Given the description of an element on the screen output the (x, y) to click on. 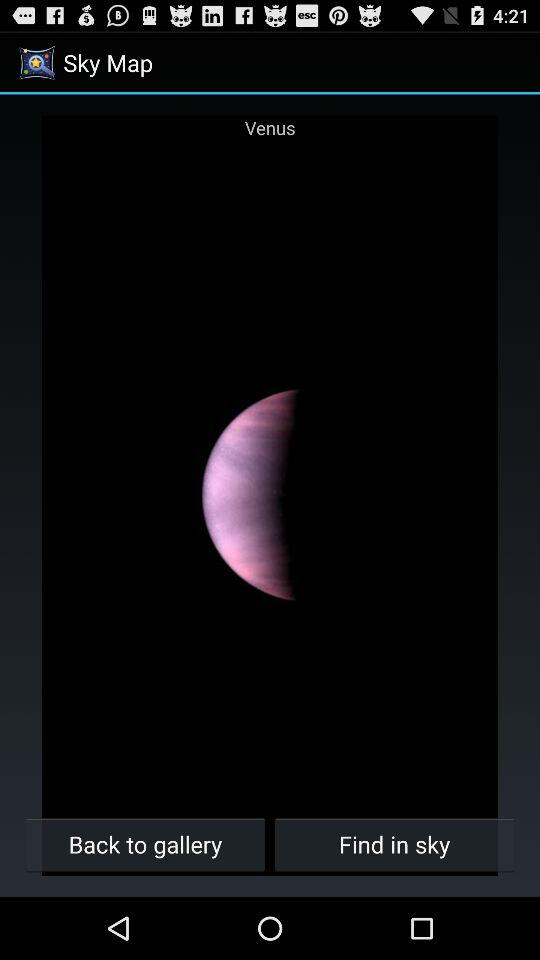
turn on the back to gallery item (145, 844)
